Given the description of an element on the screen output the (x, y) to click on. 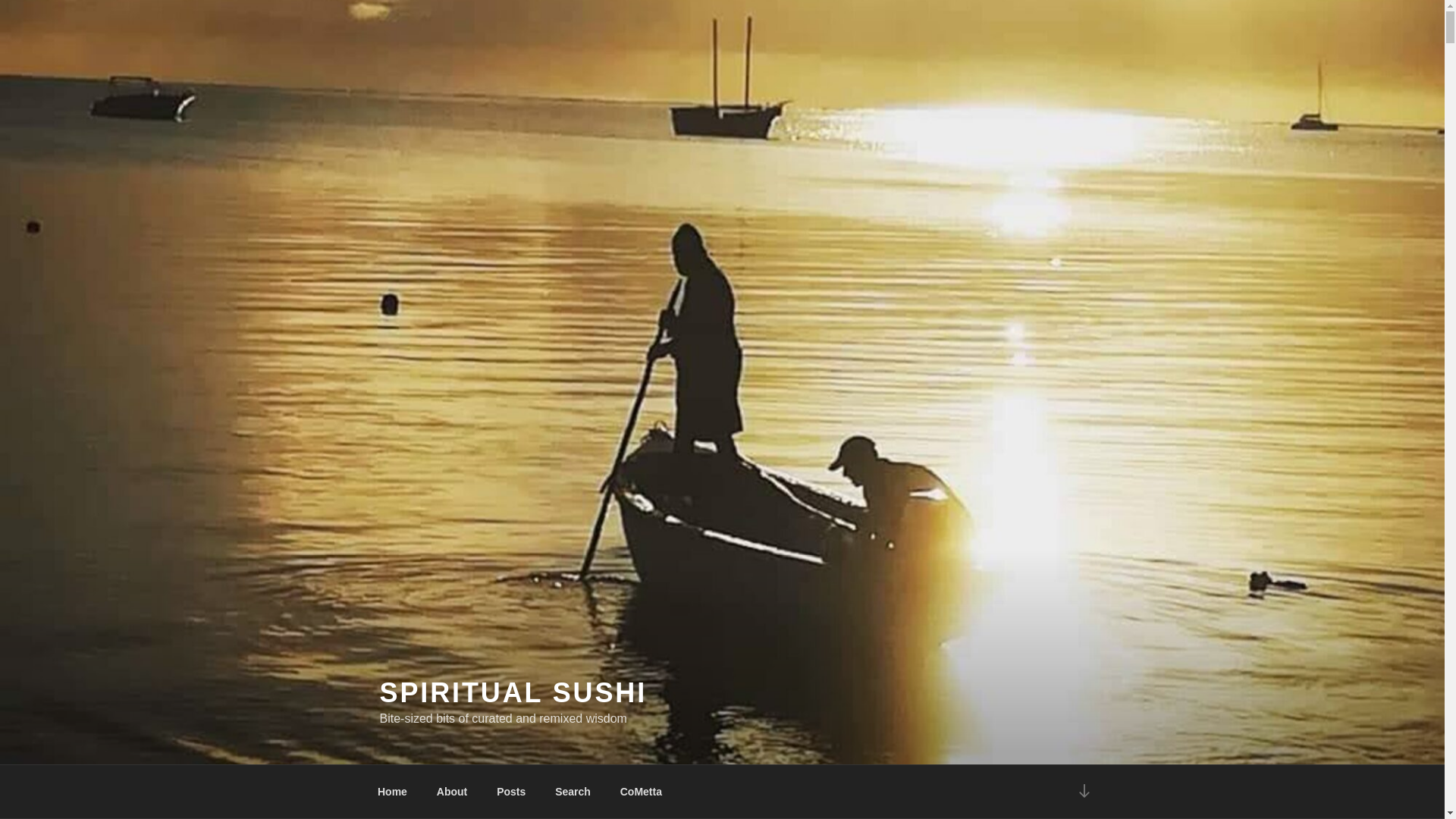
SPIRITUAL SUSHI (512, 692)
CoMetta (641, 791)
Home (392, 791)
Posts (510, 791)
Search (572, 791)
Scroll down to content (1082, 791)
Scroll down to content (1082, 791)
About (451, 791)
